Given the description of an element on the screen output the (x, y) to click on. 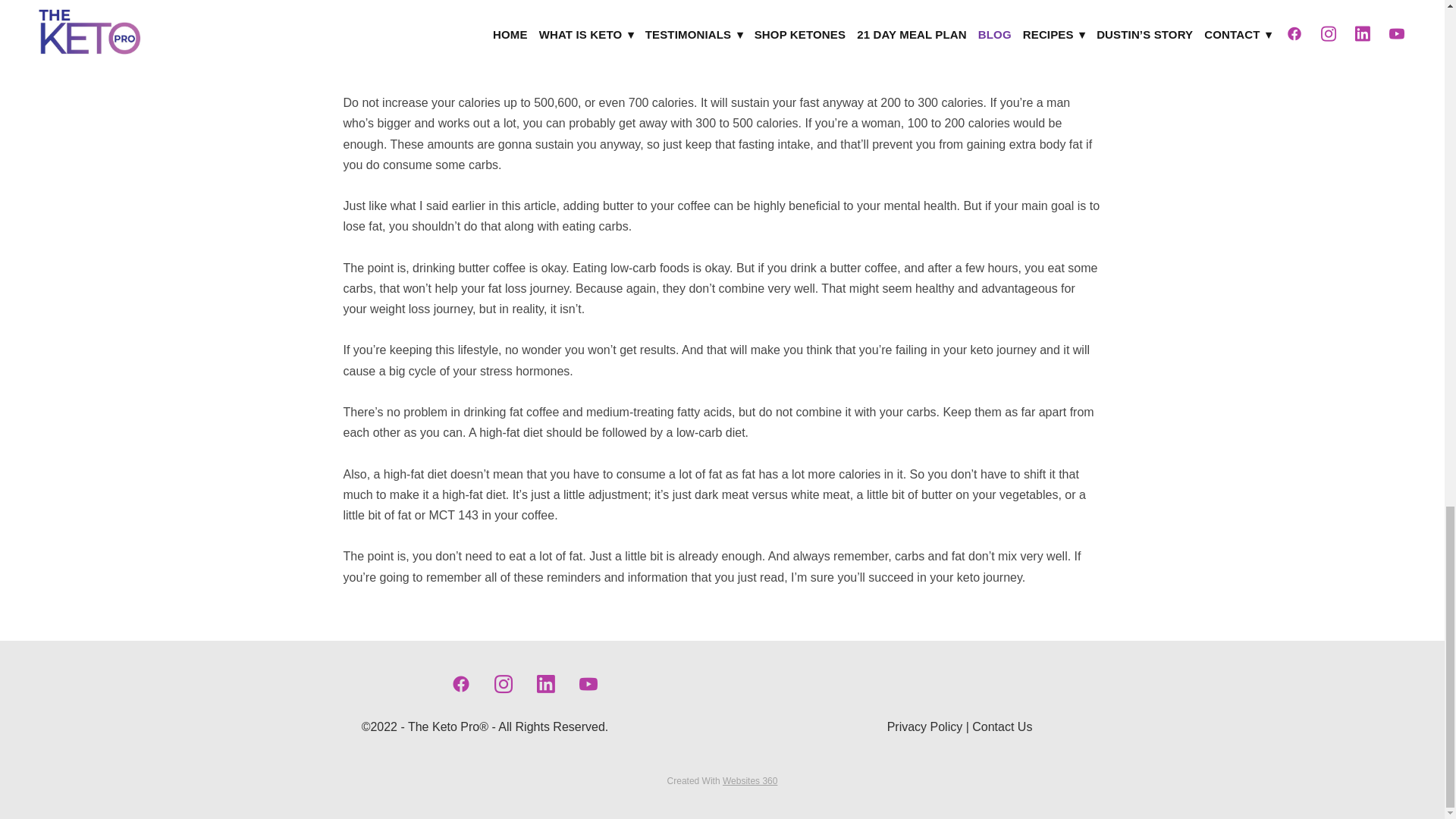
Contact Us (1002, 726)
Privacy Policy (924, 726)
Created With Websites 360 (721, 780)
